Given the description of an element on the screen output the (x, y) to click on. 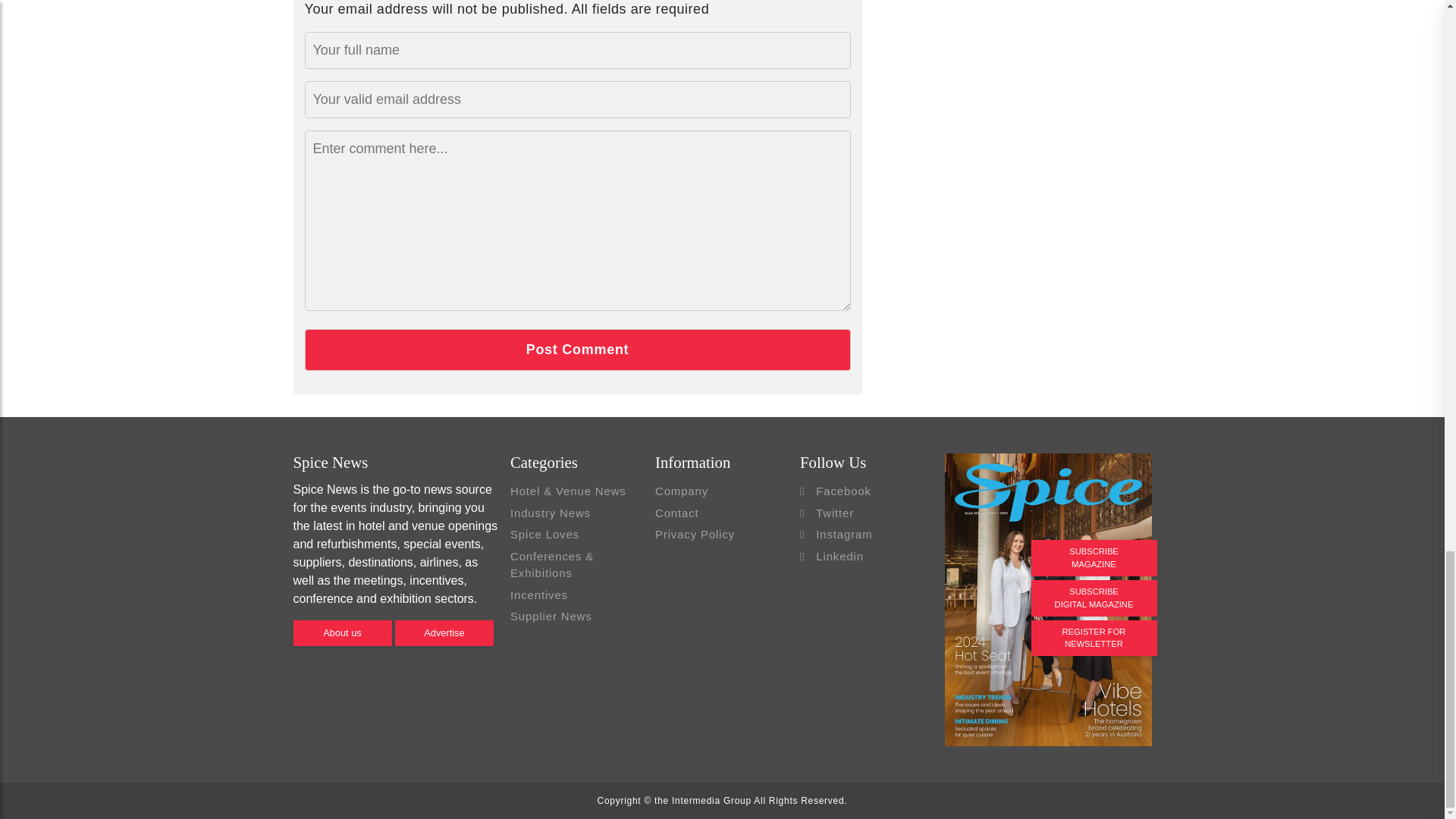
Post Comment (577, 350)
